Given the description of an element on the screen output the (x, y) to click on. 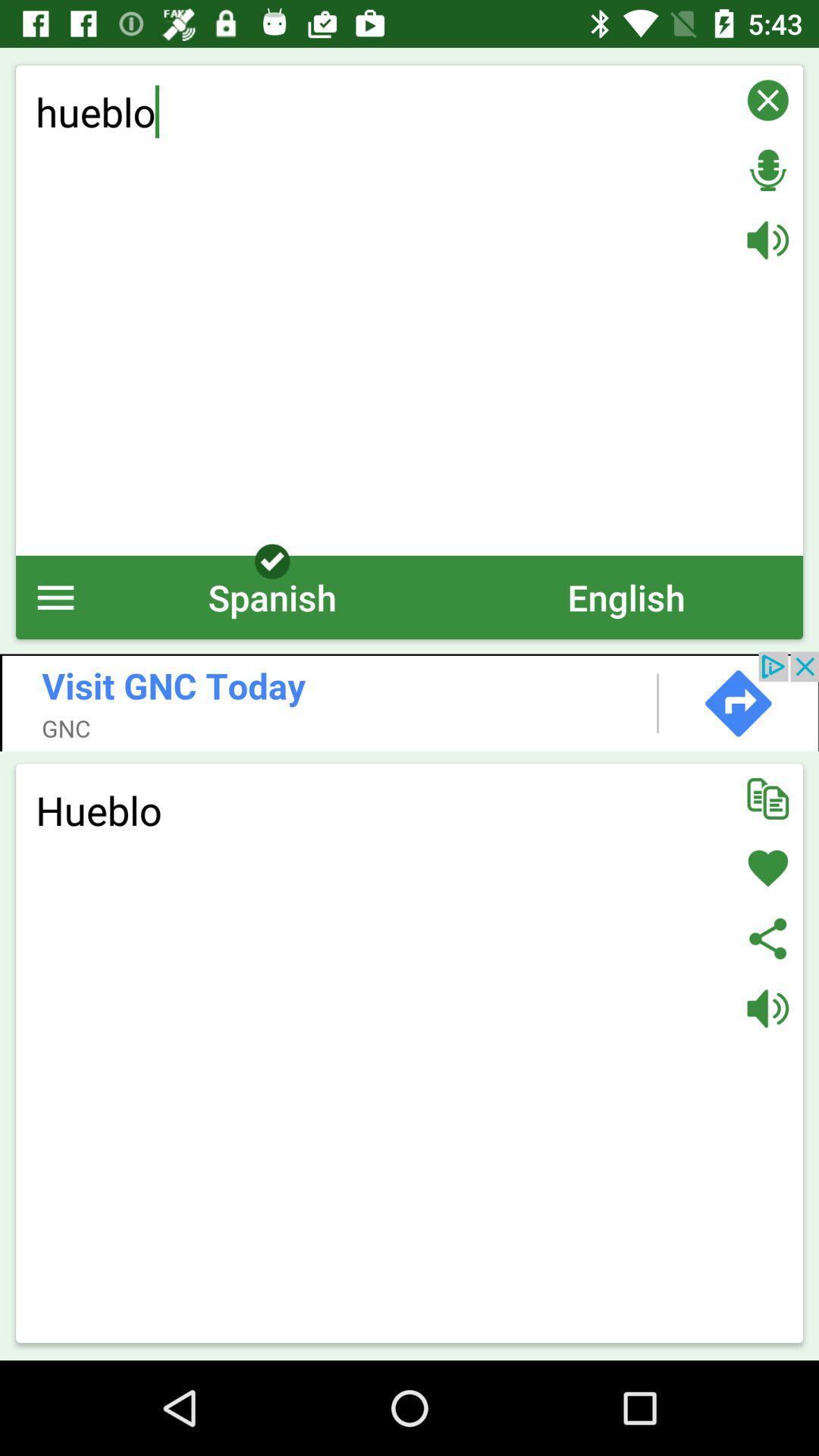
sound option (768, 240)
